Given the description of an element on the screen output the (x, y) to click on. 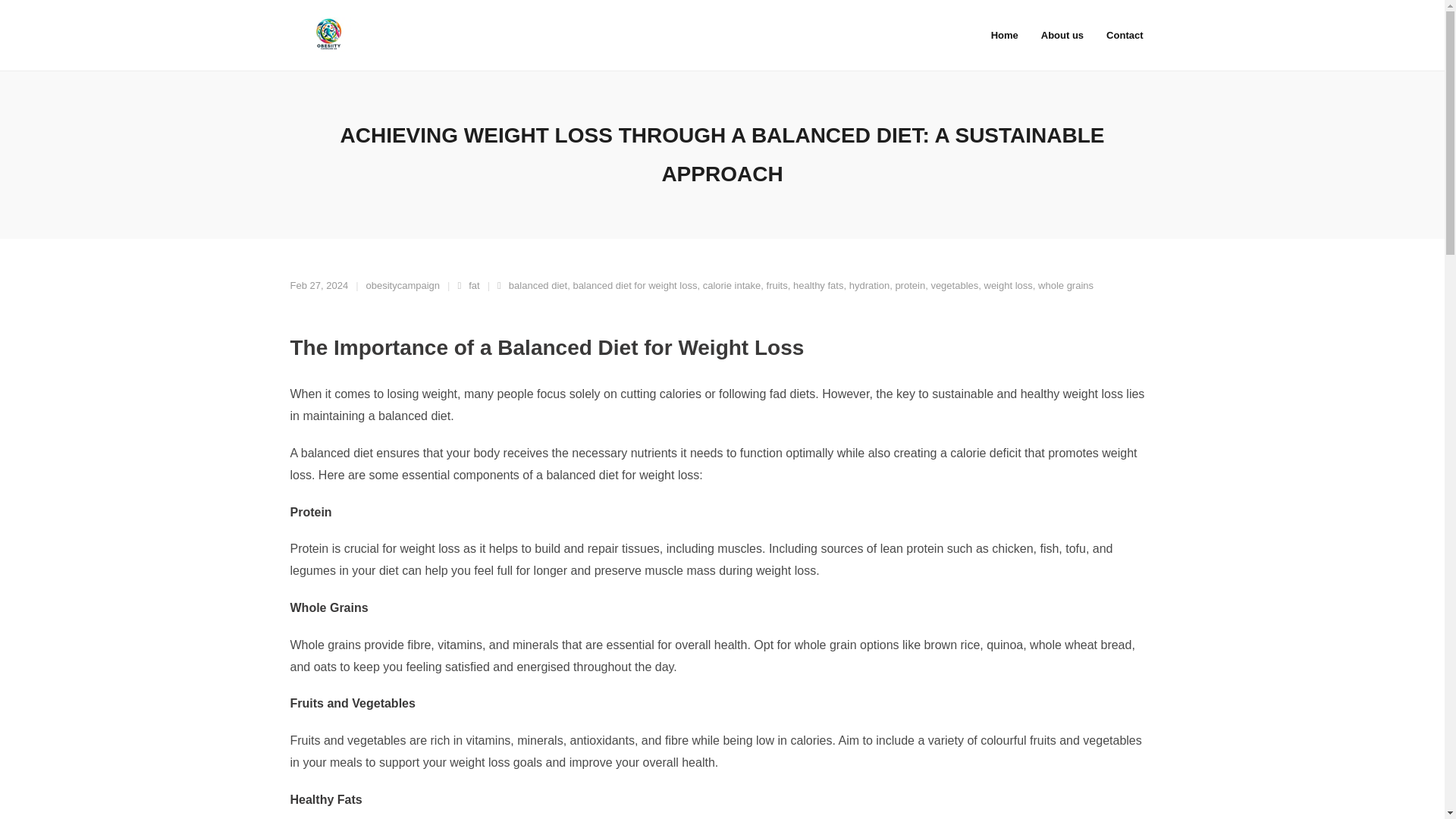
protein (909, 285)
healthy fats (818, 285)
obesitycampaign (403, 285)
View all posts by obesitycampaign (403, 285)
vegetables (954, 285)
fruits (777, 285)
hydration (868, 285)
About us (1061, 35)
Feb 27, 2024 (318, 285)
